Given the description of an element on the screen output the (x, y) to click on. 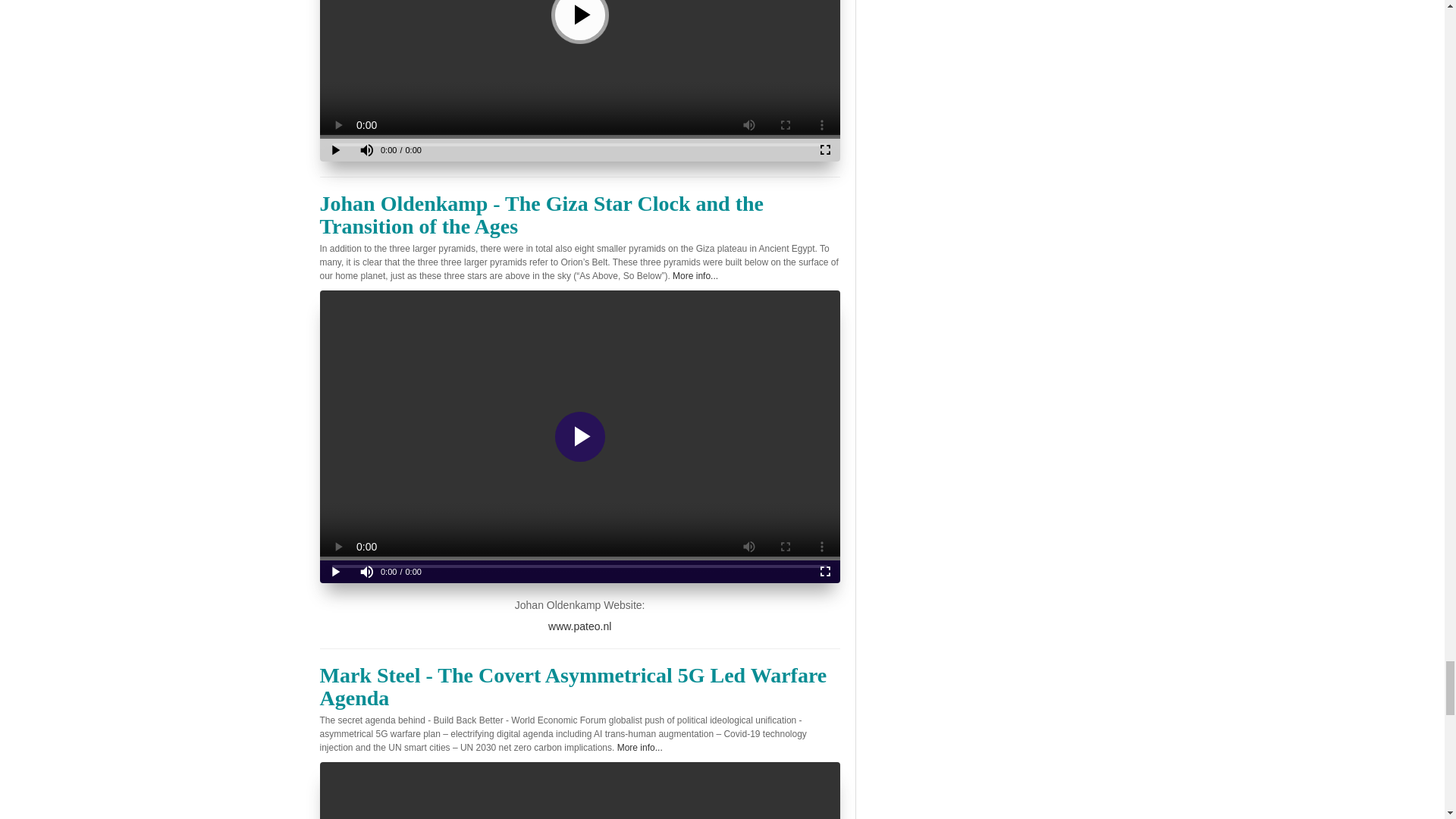
www.pateo.nl (579, 625)
More info... (639, 747)
More info... (694, 276)
